Given the description of an element on the screen output the (x, y) to click on. 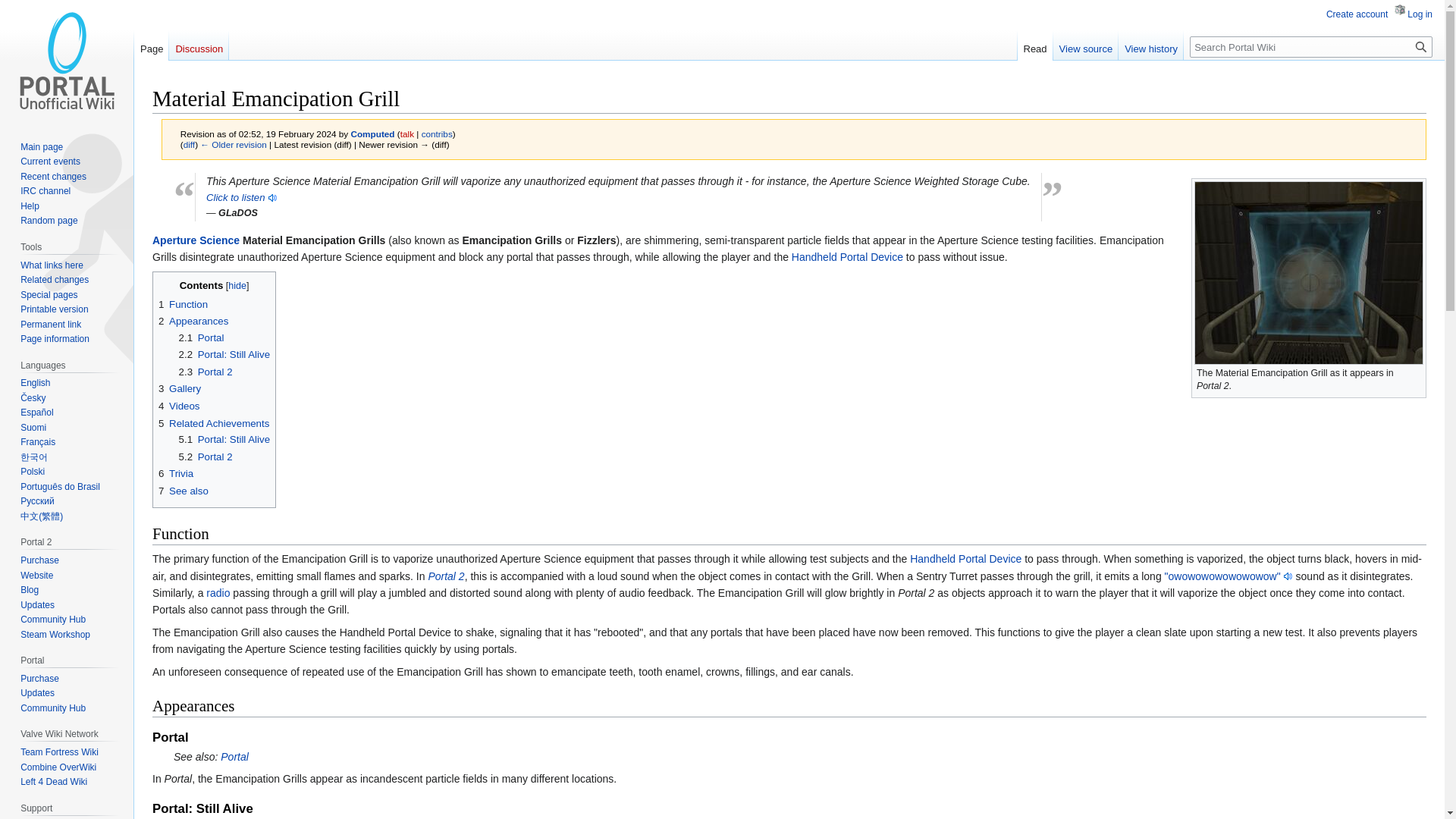
Aperture Science (196, 240)
Enlarge (1415, 370)
"owowowowowowowow" (1228, 576)
Turret turret fizzler 1.wav (1228, 576)
Go (1420, 46)
3 Gallery (179, 388)
Handheld Portal Device (966, 558)
Material Emancipation Grill (189, 144)
GLaDOS 00 part1 success-3.wav (242, 197)
